Given the description of an element on the screen output the (x, y) to click on. 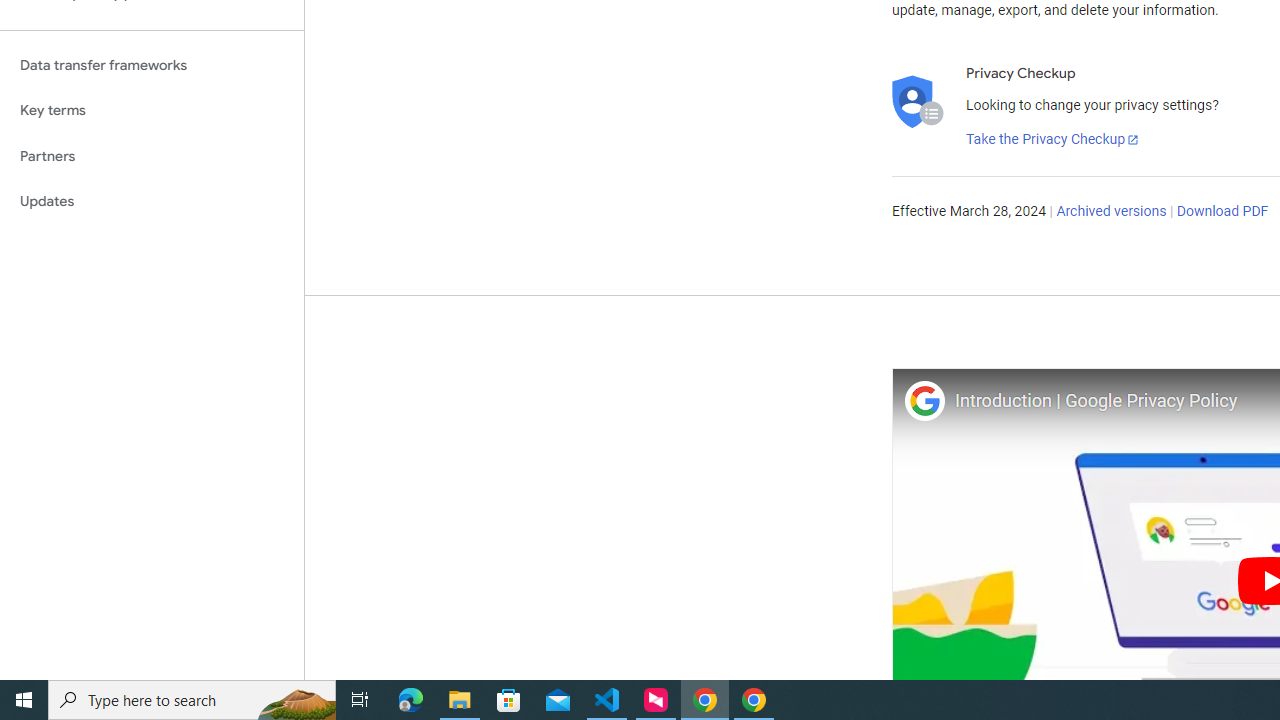
Photo image of Google (924, 400)
Take the Privacy Checkup (1053, 140)
